Given the description of an element on the screen output the (x, y) to click on. 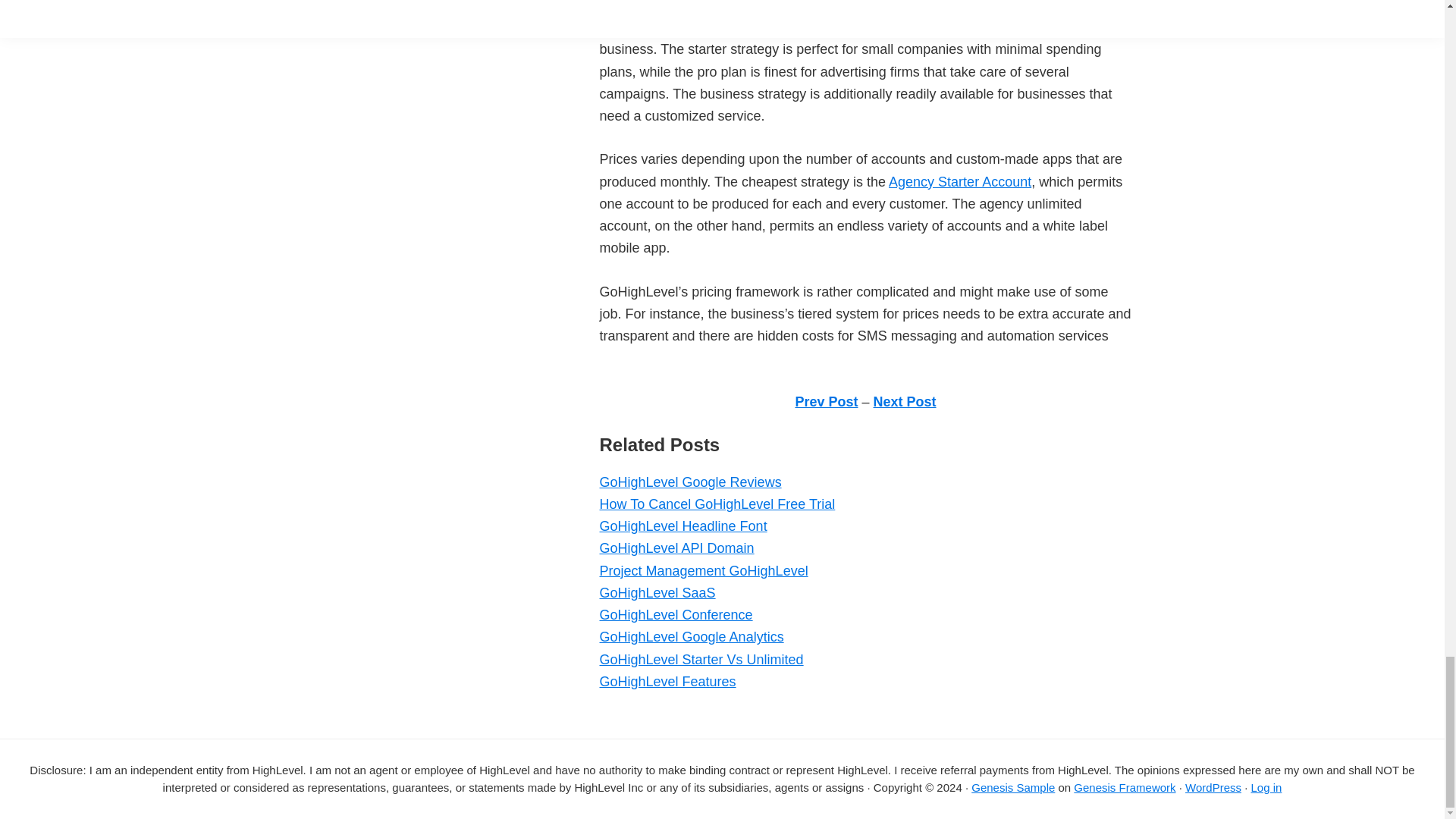
GoHighLevel SaaS (656, 592)
WordPress (1213, 787)
Prev Post (825, 401)
GoHighLevel Features (666, 681)
Agency Starter Account (959, 181)
Genesis Sample (1012, 787)
Log in (1266, 787)
GoHighLevel Google Analytics (690, 636)
GoHighLevel API Domain (676, 548)
Genesis Framework (1124, 787)
GoHighLevel Features (666, 681)
GoHighLevel SaaS (656, 592)
GoHighLevel Starter Vs Unlimited (700, 659)
GoHighLevel Conference (675, 614)
Project Management GoHighLevel (703, 570)
